Given the description of an element on the screen output the (x, y) to click on. 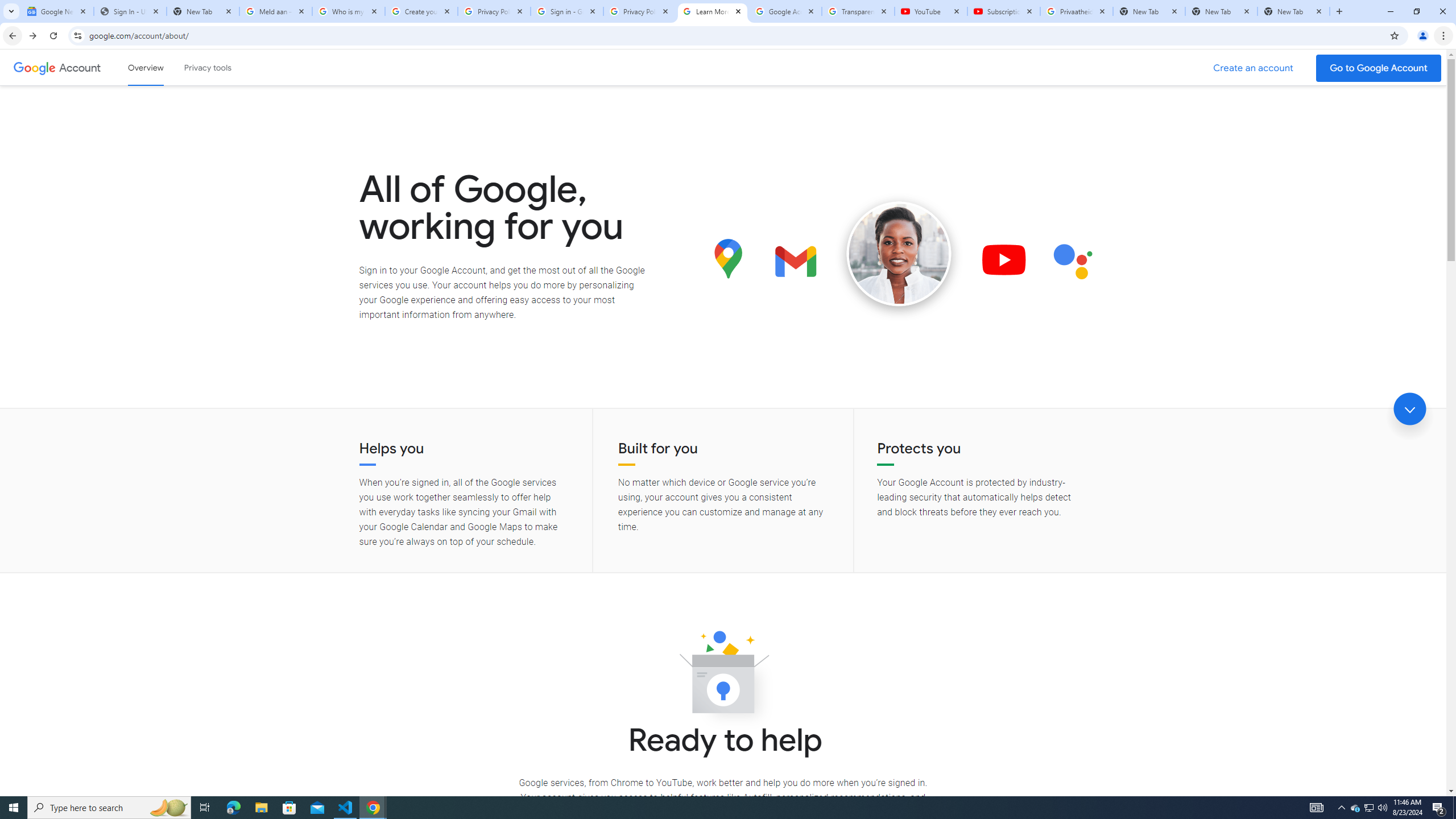
Google Account (80, 67)
Jump link (1409, 408)
Who is my administrator? - Google Account Help (348, 11)
New Tab (1293, 11)
Sign In - USA TODAY (129, 11)
